Given the description of an element on the screen output the (x, y) to click on. 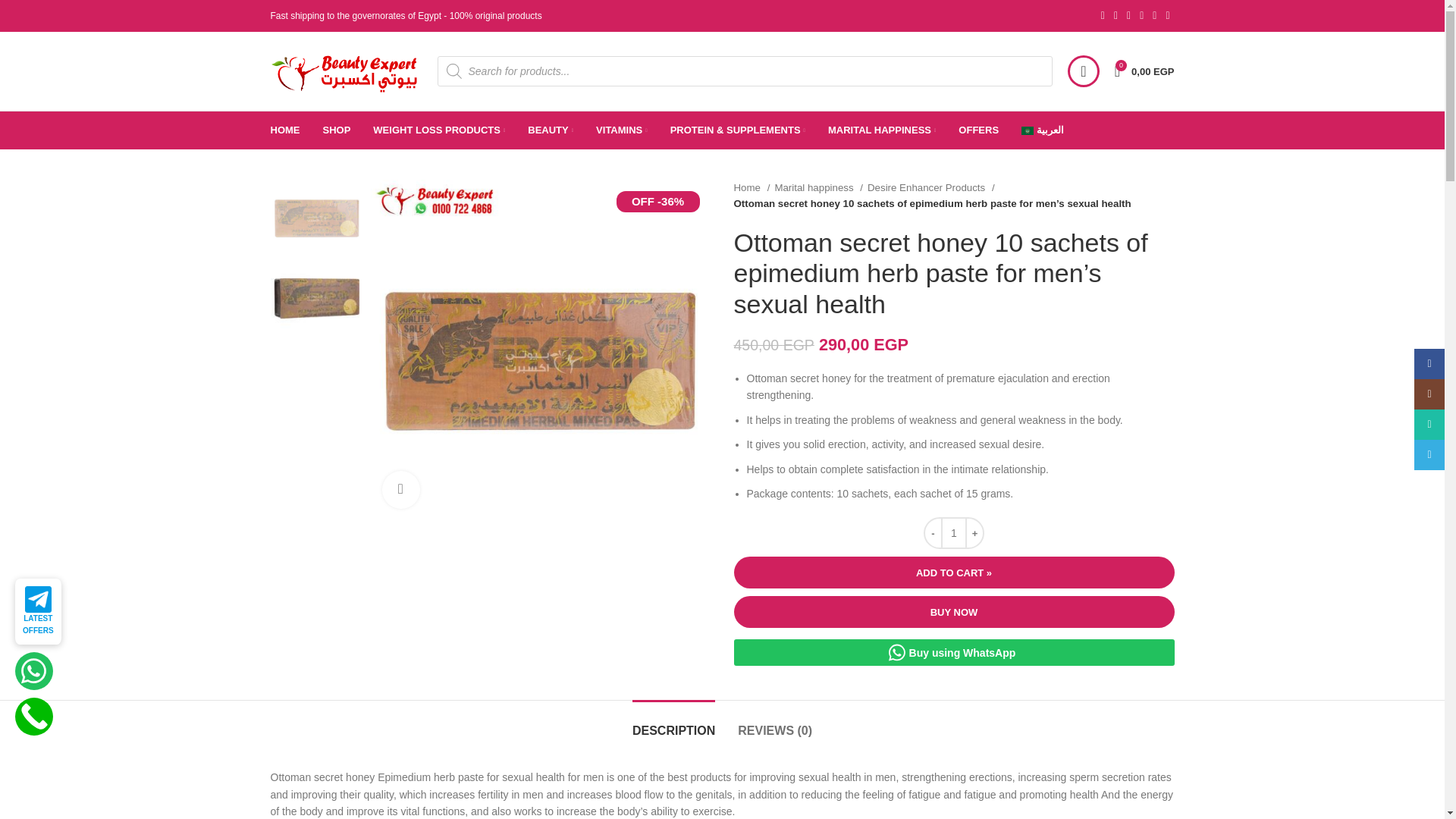
BEAUTY (550, 130)
Log in (973, 312)
Shopping cart (1144, 71)
3 (539, 349)
HOME (284, 130)
WEIGHT LOSS PRODUCTS (438, 130)
My account (1082, 71)
SHOP (336, 130)
1 (1144, 71)
